Given the description of an element on the screen output the (x, y) to click on. 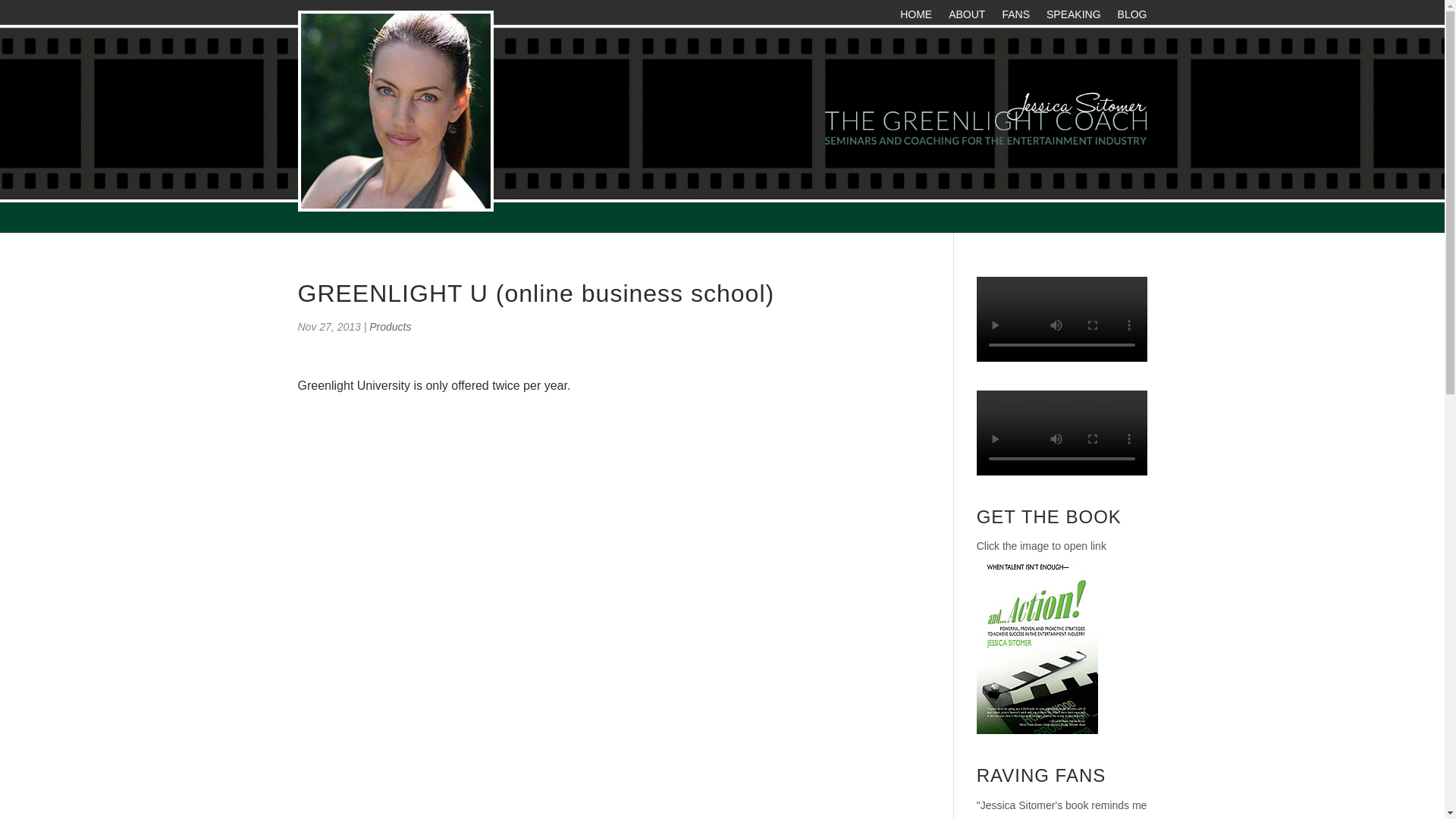
FANS (1015, 17)
ABOUT (967, 17)
HOME (915, 17)
SPEAKING (1073, 17)
Products (389, 326)
BLOG (1132, 17)
